Given the description of an element on the screen output the (x, y) to click on. 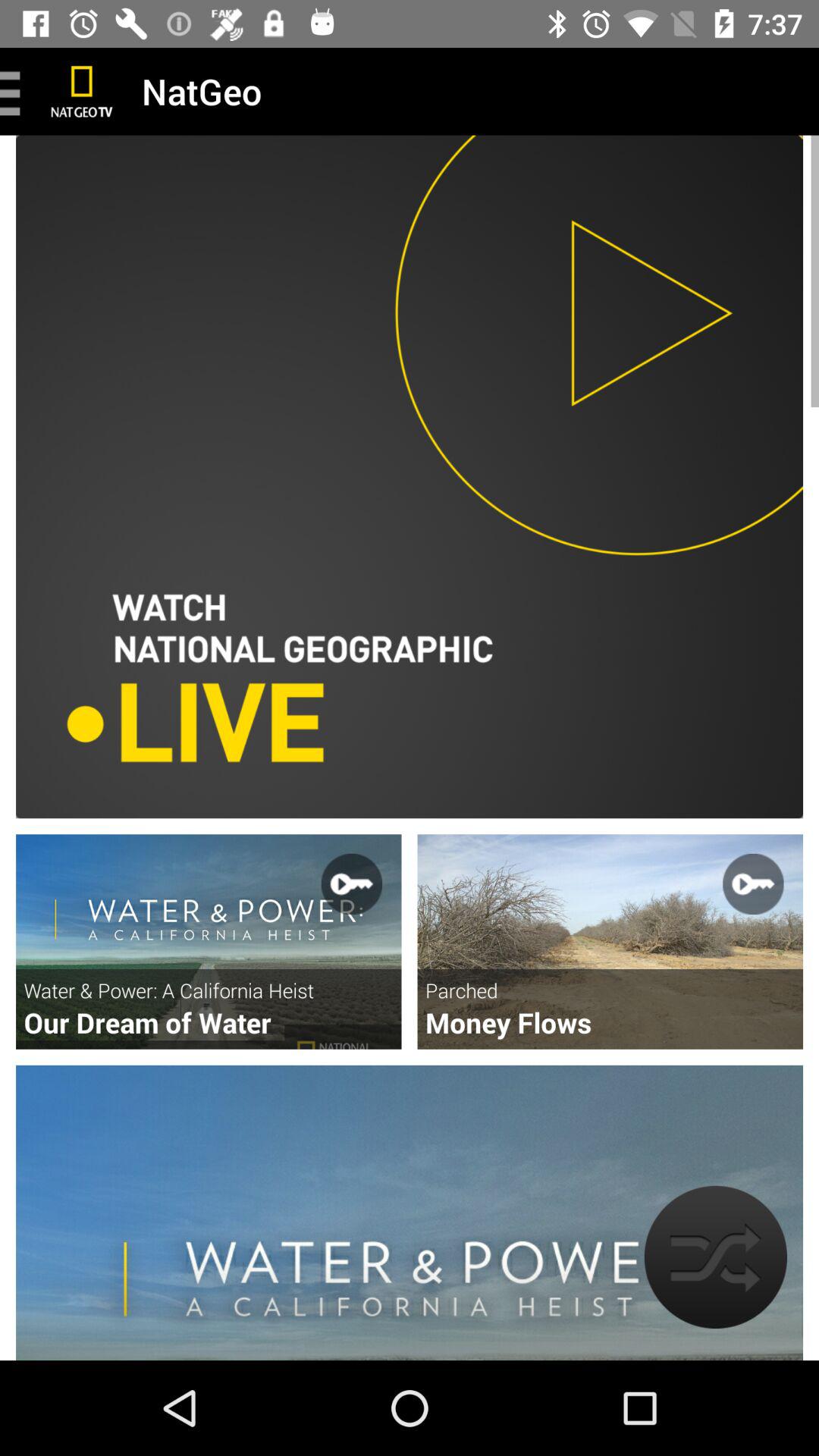
main video area (409, 476)
